Given the description of an element on the screen output the (x, y) to click on. 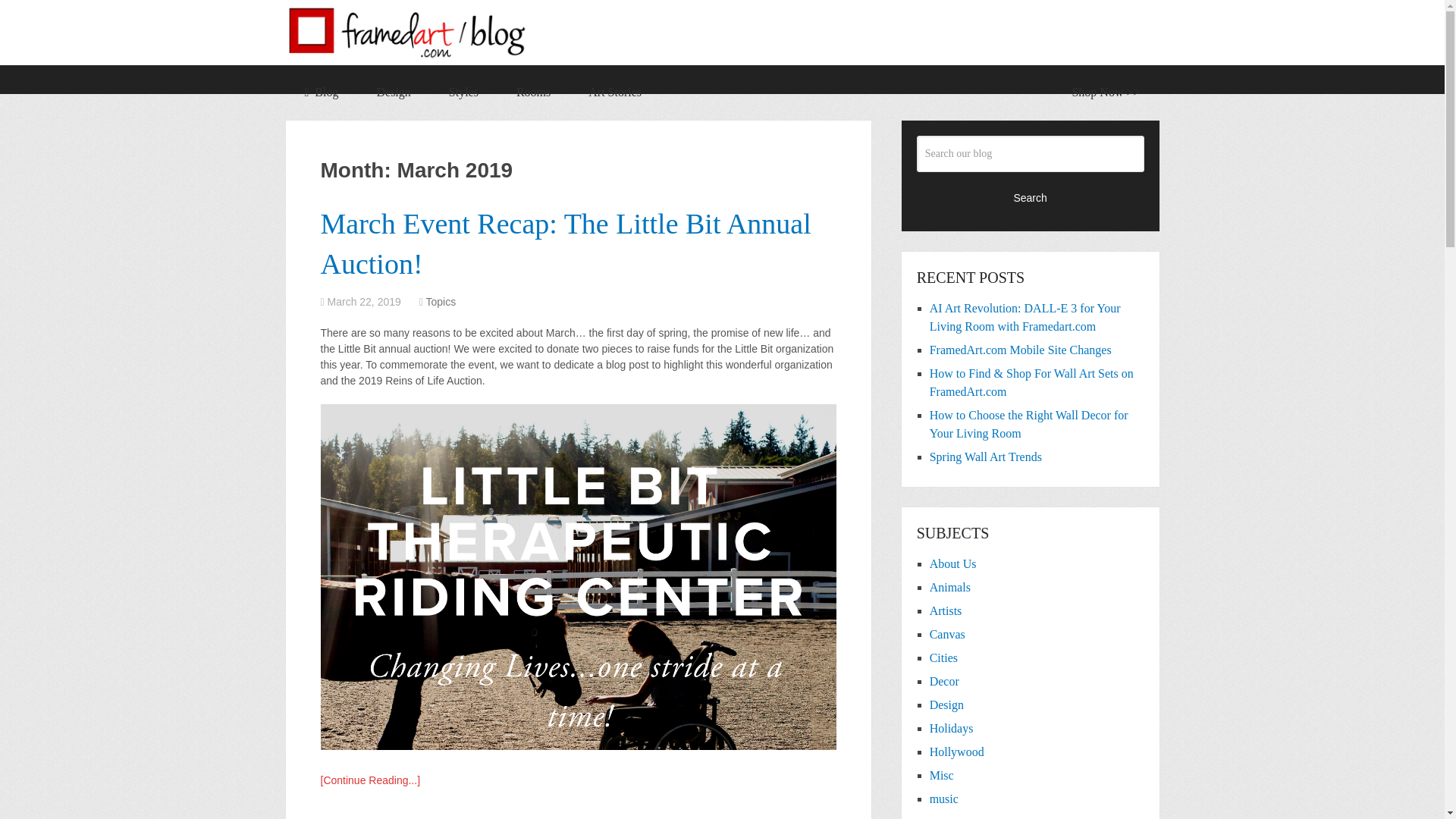
March Event Recap: The Little Bit Annual Auction! (565, 244)
Styles (463, 92)
Search (1030, 197)
Rooms (533, 92)
Design (392, 92)
Art Stories (615, 92)
March Event Recap: The Little Bit Annual Auction! (565, 244)
Topics (440, 301)
